Given the description of an element on the screen output the (x, y) to click on. 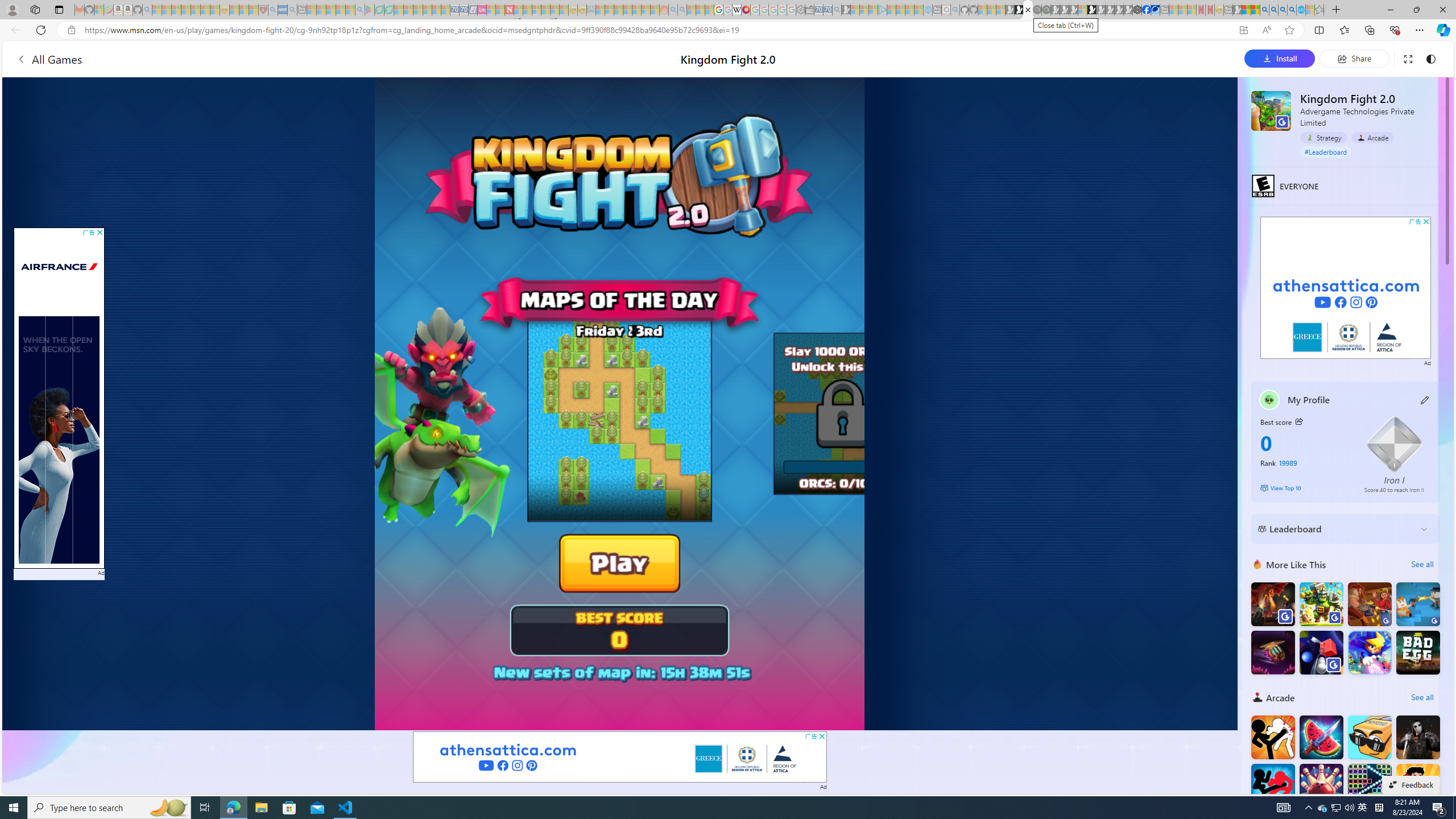
Play Zoo Boom in your browser | Games from Microsoft Start (1018, 9)
Kingdom Fight (1321, 603)
Bing Real Estate - Home sales and rental listings - Sleeping (836, 9)
Strategy (1323, 137)
EVERYONE (1262, 185)
Local - MSN - Sleeping (253, 9)
